Given the description of an element on the screen output the (x, y) to click on. 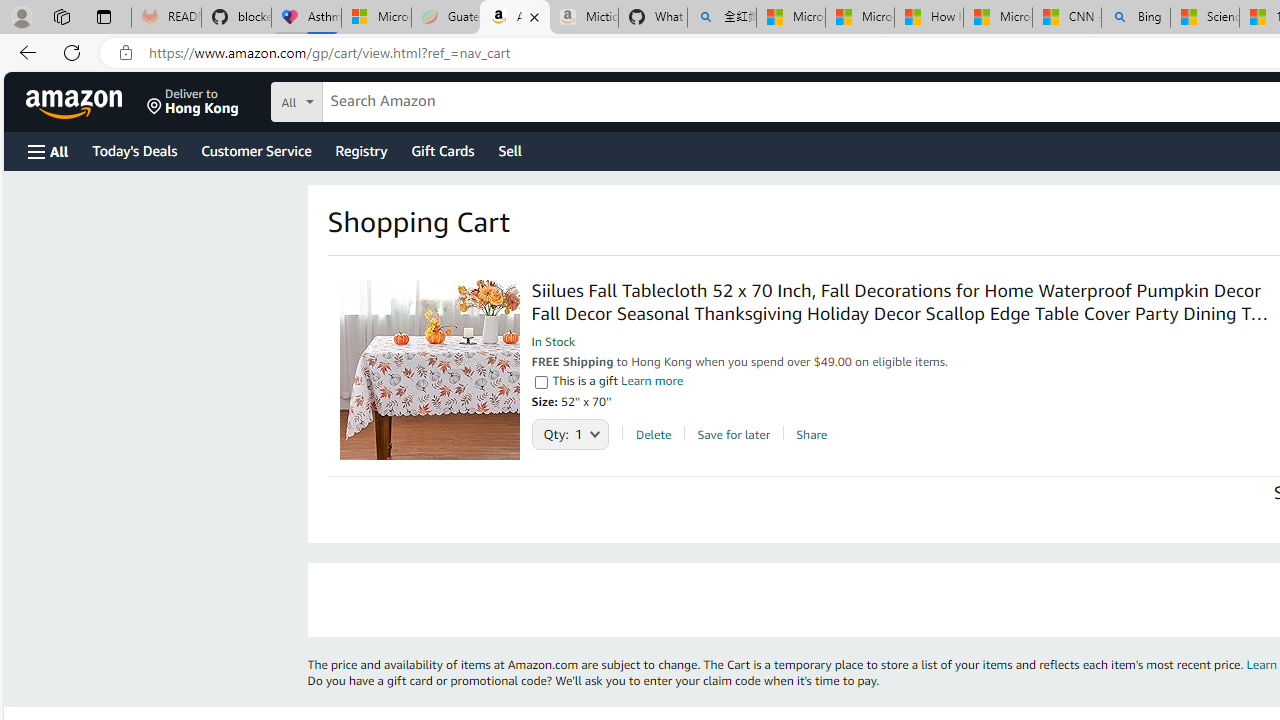
Qty: Quantity (570, 429)
